Given the description of an element on the screen output the (x, y) to click on. 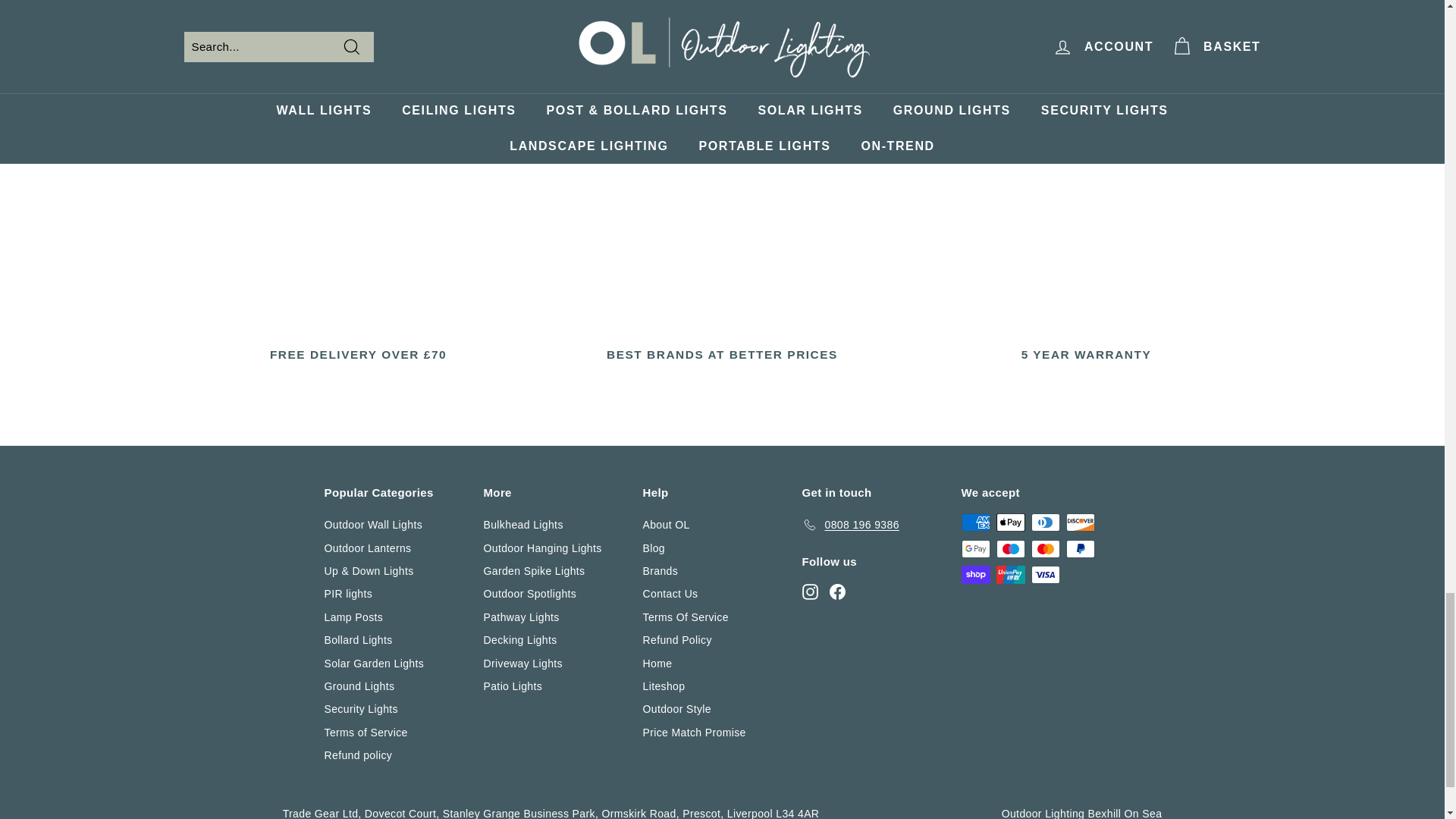
Diners Club (1044, 522)
Discover (1079, 522)
Maestro (1010, 548)
Outdoor Lighting on Instagram (810, 590)
PayPal (1079, 548)
Mastercard (1044, 548)
Apple Pay (1010, 522)
Google Pay (975, 548)
American Express (975, 522)
